Given the description of an element on the screen output the (x, y) to click on. 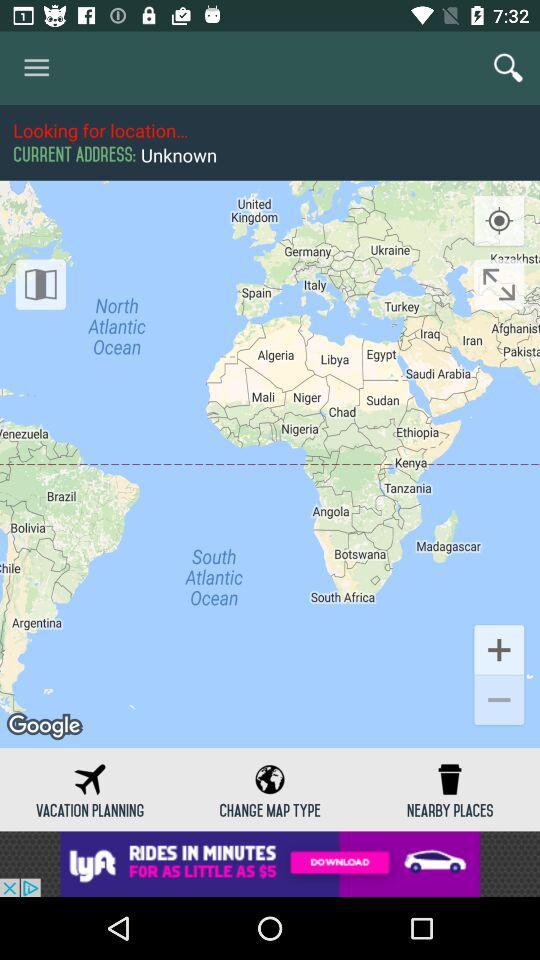
access advertising (270, 864)
